Given the description of an element on the screen output the (x, y) to click on. 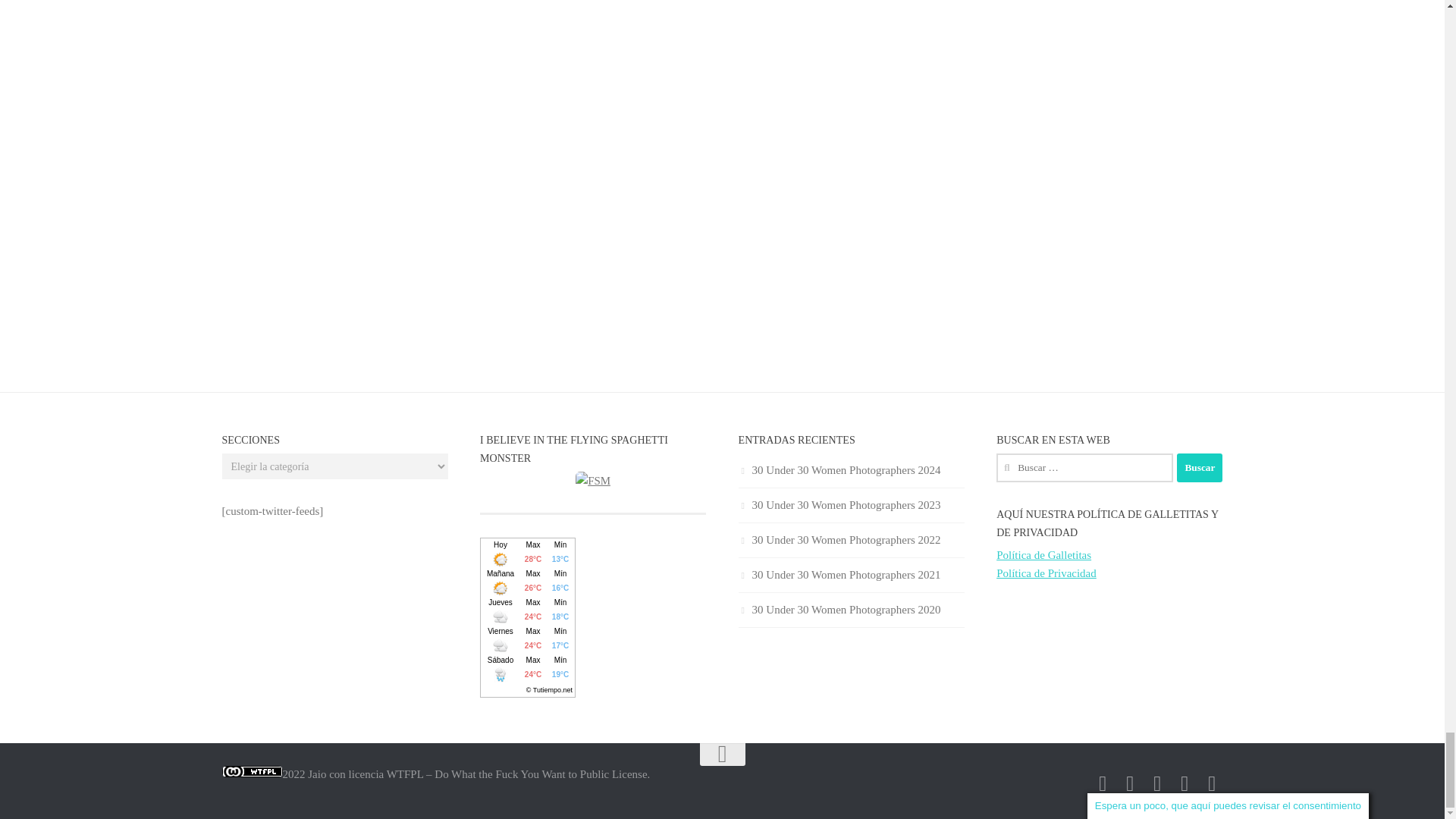
Instagram (1212, 783)
Twitter (1129, 783)
Linkedin (1157, 783)
Youtube (1184, 783)
Buscar (1199, 467)
Buscar (1199, 467)
Facebook (1102, 783)
